Given the description of an element on the screen output the (x, y) to click on. 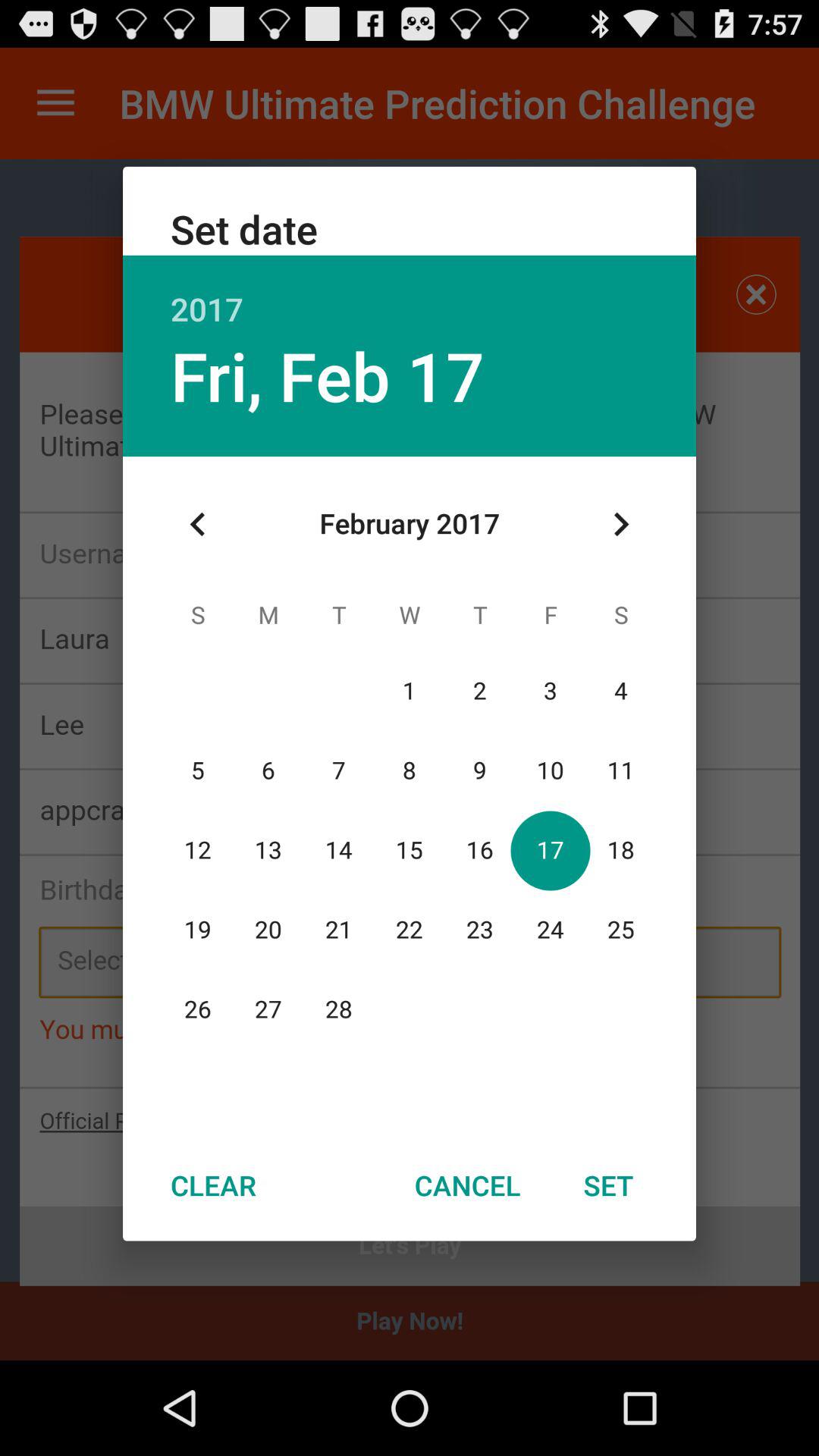
jump to 2017 icon (409, 292)
